Given the description of an element on the screen output the (x, y) to click on. 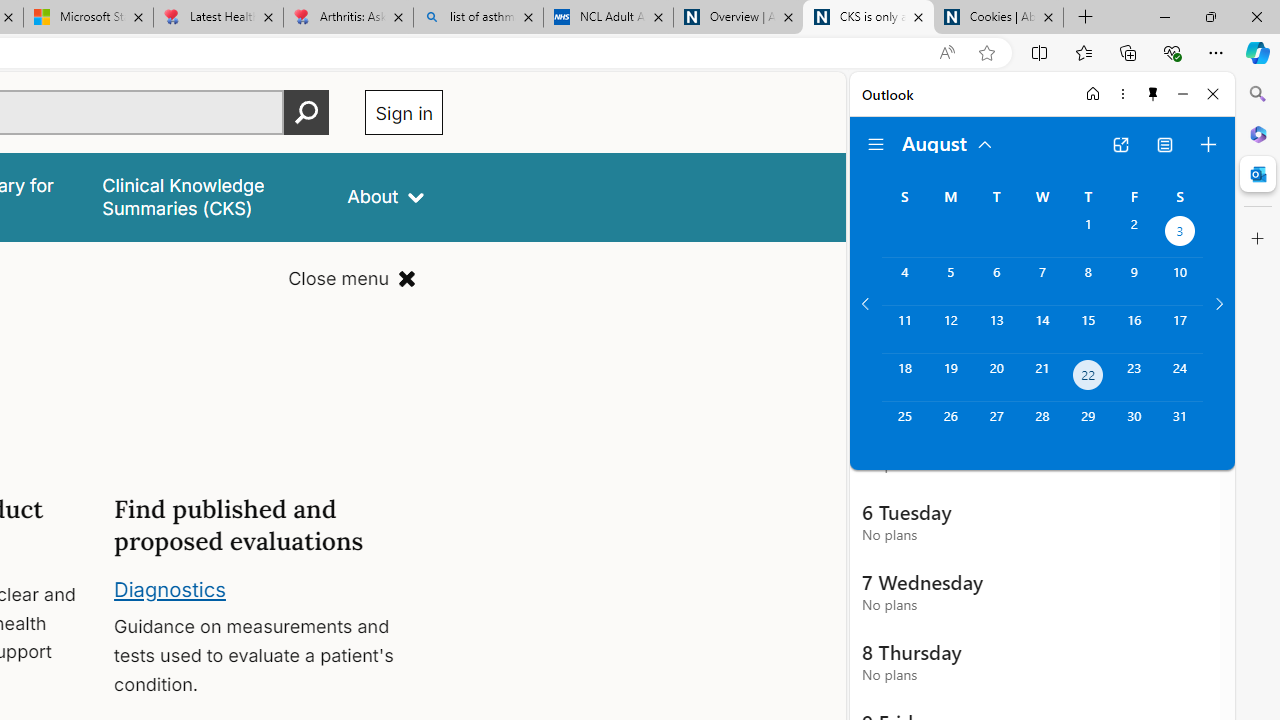
Tuesday, August 13, 2024.  (996, 329)
Thursday, August 29, 2024.  (1088, 425)
